Given the description of an element on the screen output the (x, y) to click on. 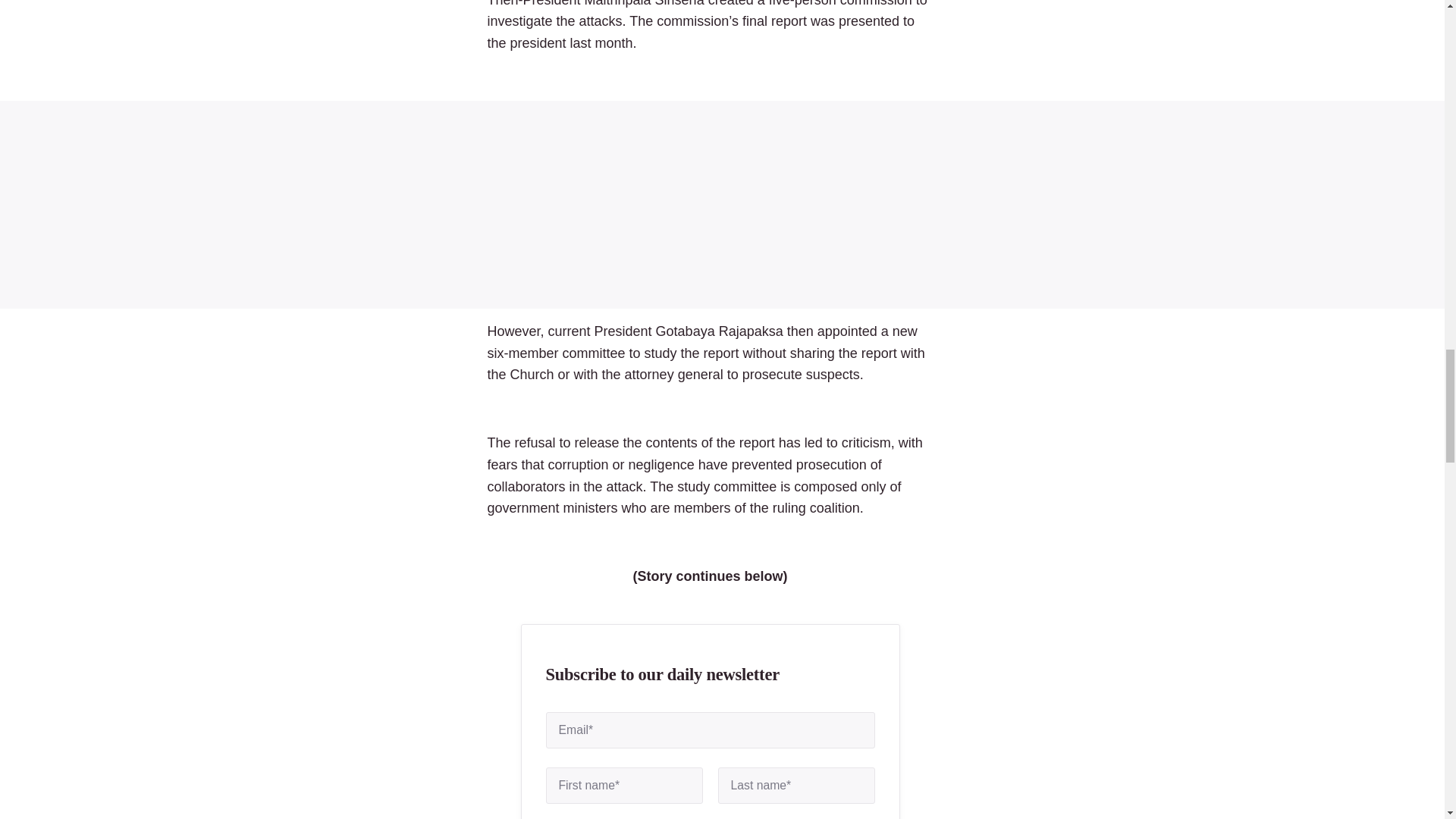
3rd party ad content (721, 204)
